Given the description of an element on the screen output the (x, y) to click on. 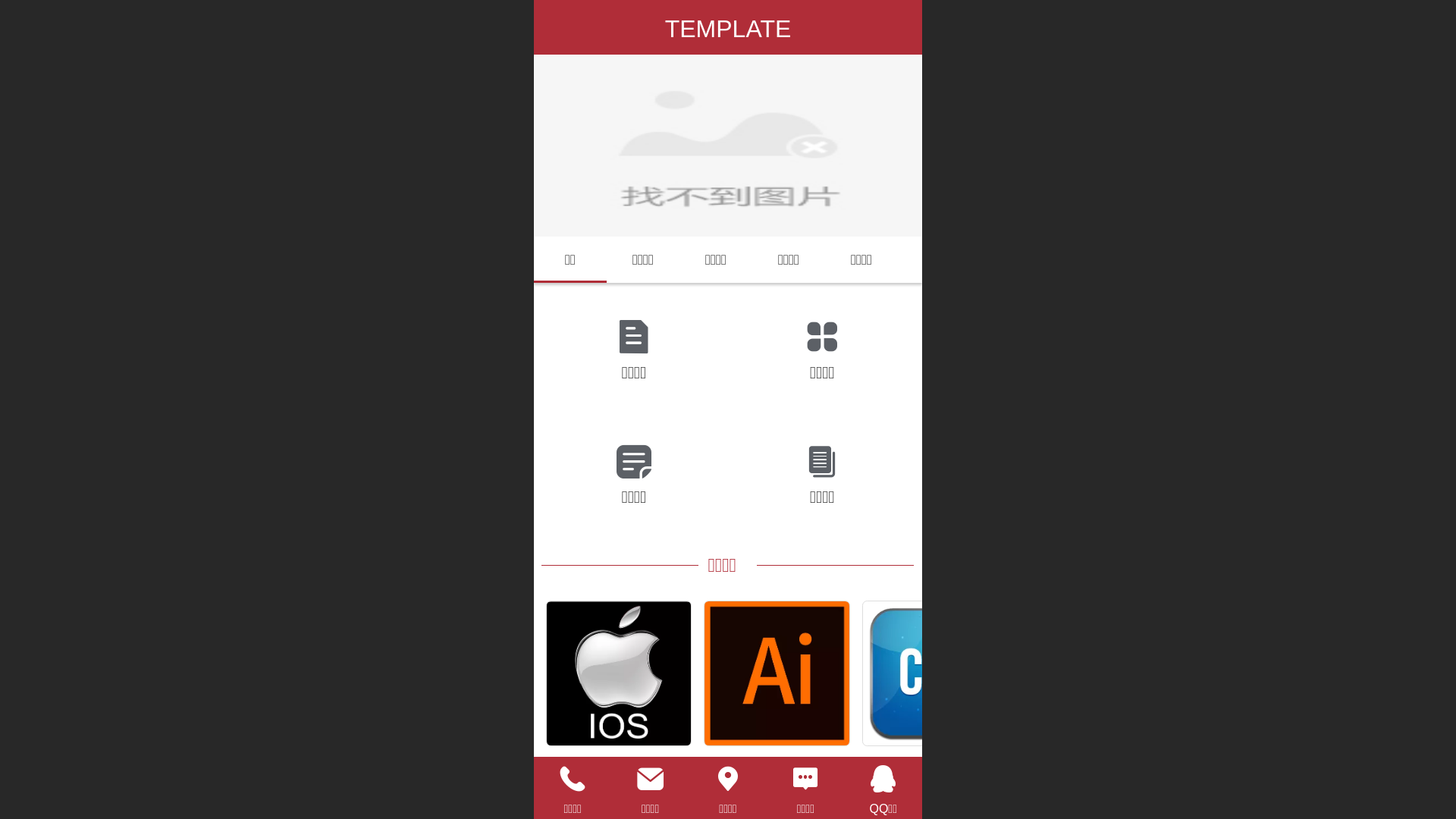
TEMPLATE Element type: text (728, 28)
